Given the description of an element on the screen output the (x, y) to click on. 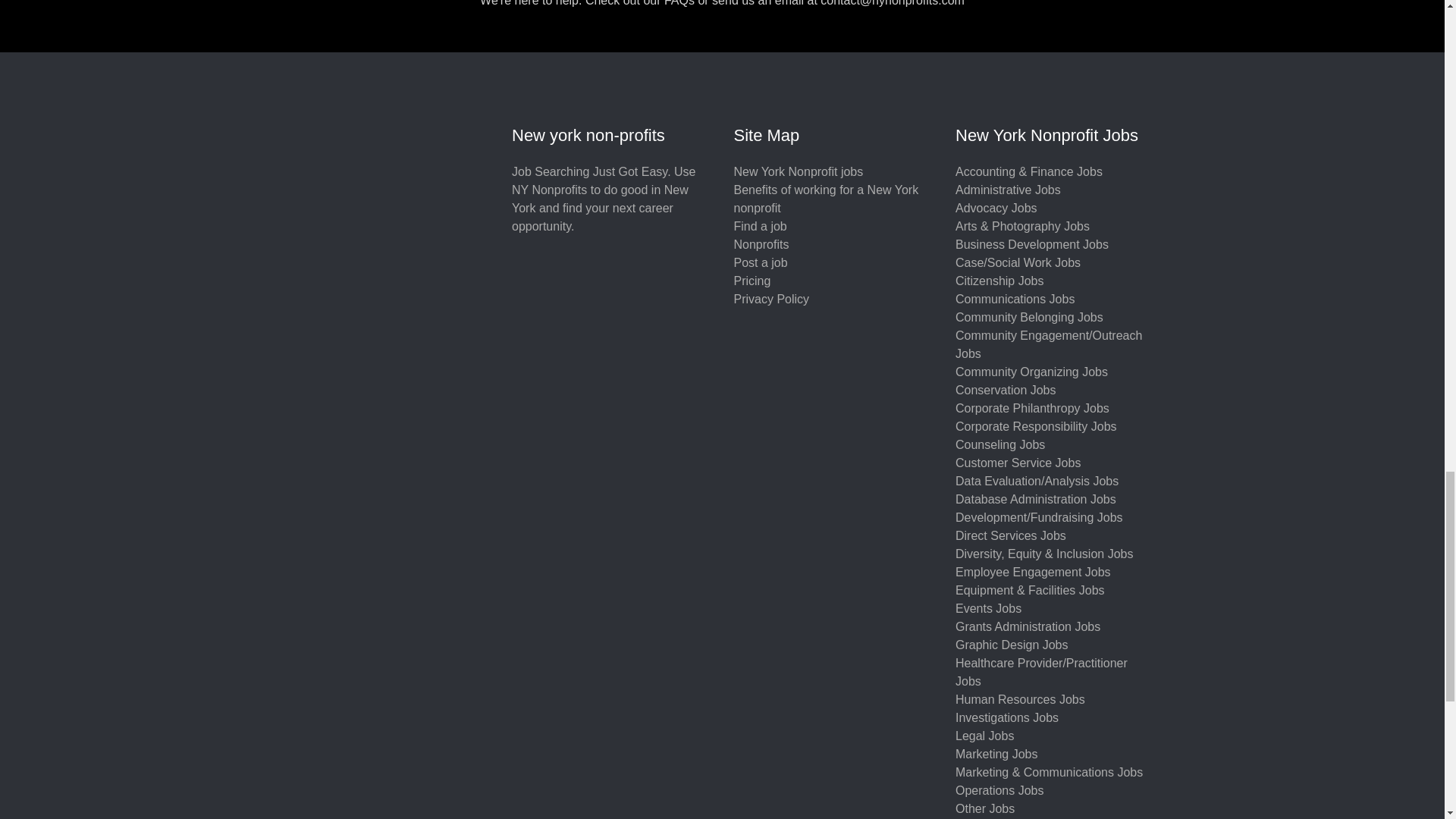
New York Nonprofit jobs (798, 171)
Find a job (760, 226)
Corporate Philanthropy Jobs (1032, 408)
Post a job (760, 262)
Administrative Jobs (1008, 189)
Communications Jobs (1014, 298)
Citizenship Jobs (999, 280)
Business Development Jobs (1031, 244)
Community Belonging Jobs (1029, 317)
Privacy Policy (771, 298)
Customer Service Jobs (1017, 462)
Nonprofits (761, 244)
Pricing (752, 280)
Conservation Jobs (1006, 390)
Corporate Responsibility Jobs (1035, 426)
